Given the description of an element on the screen output the (x, y) to click on. 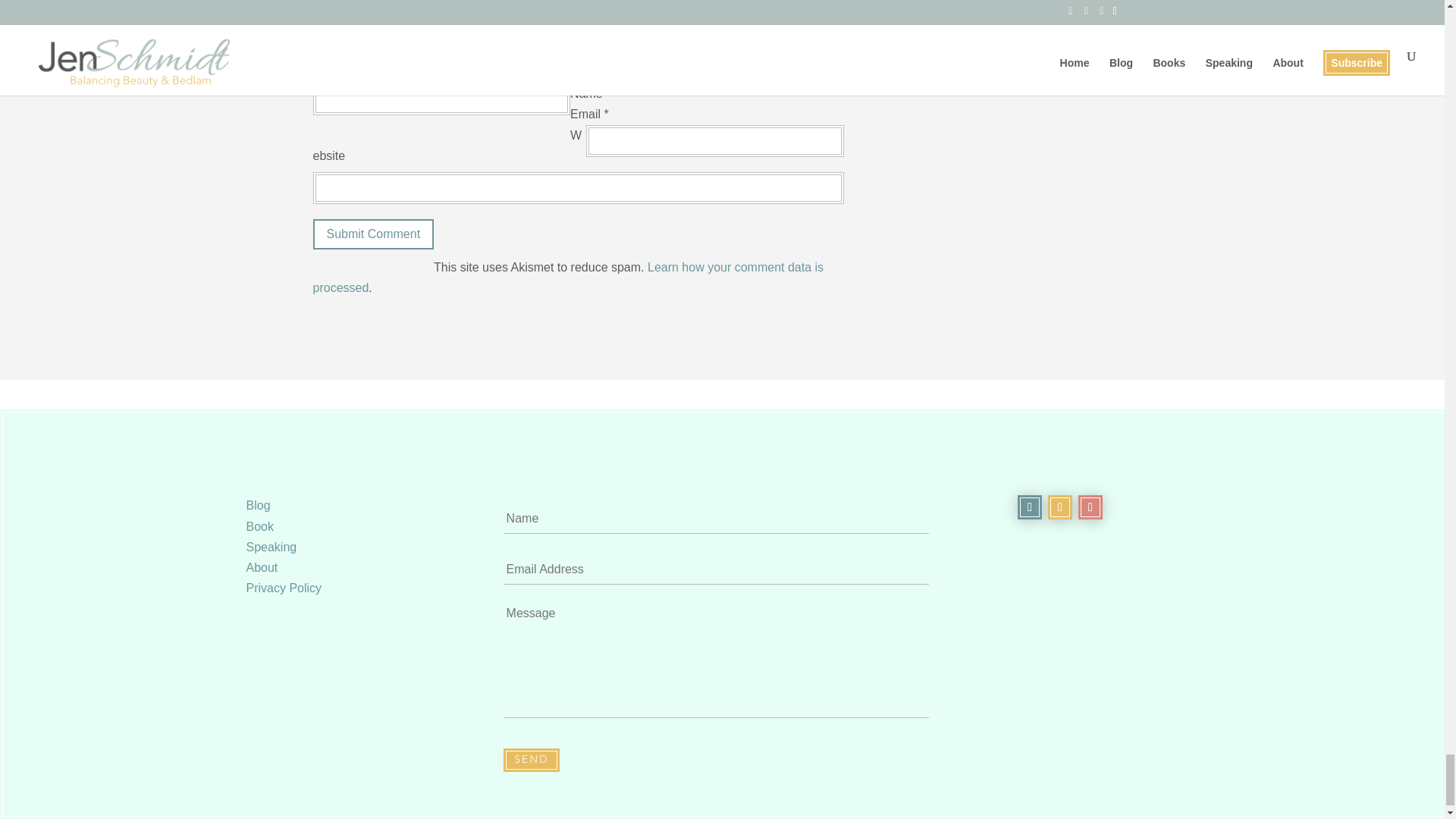
Follow on Pinterest (1059, 507)
Follow on Instagram (1090, 507)
Submit Comment (373, 234)
Follow on Facebook (1029, 507)
